Given the description of an element on the screen output the (x, y) to click on. 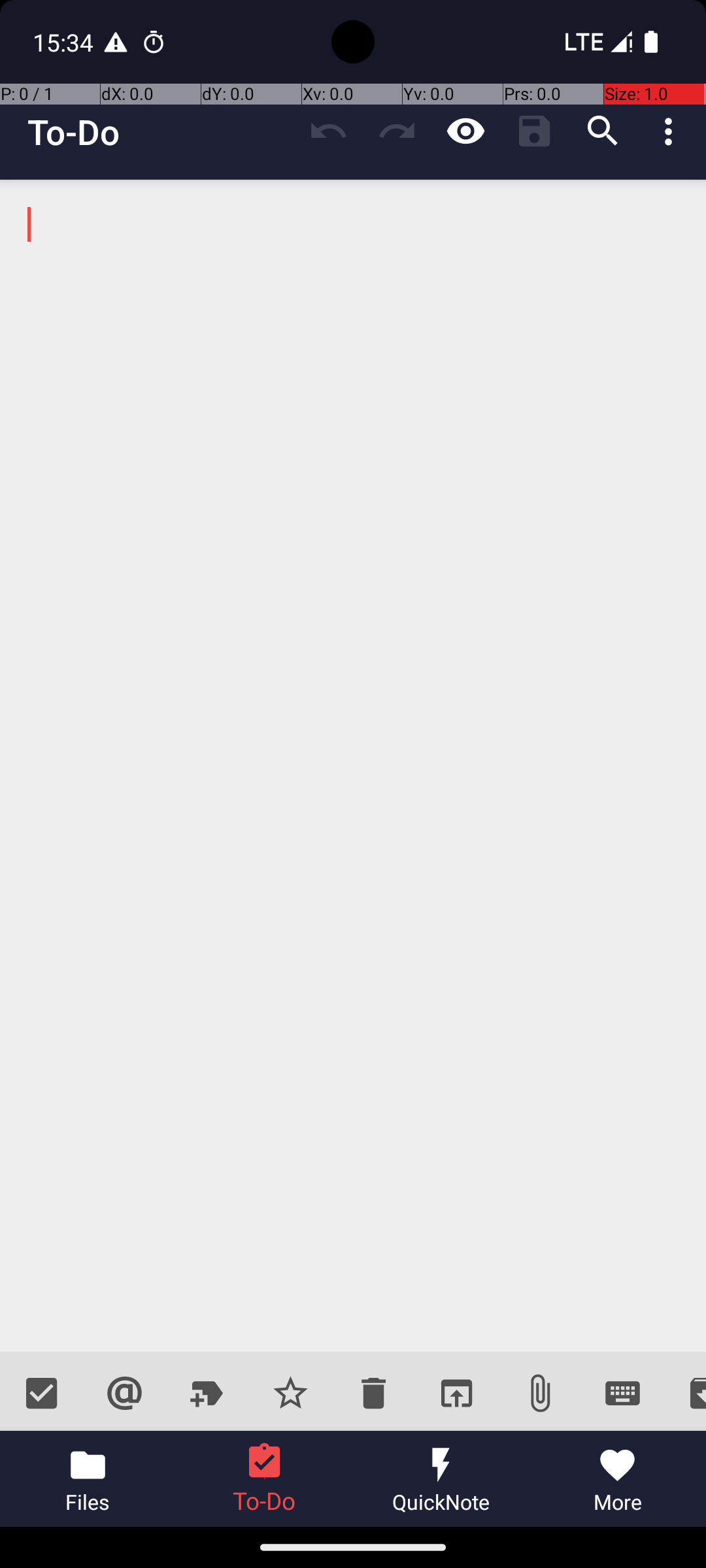
Toggle done Element type: android.widget.ImageView (41, 1392)
Add context Element type: android.widget.ImageView (124, 1392)
Add project Element type: android.widget.ImageView (207, 1392)
Archive completed tasks Element type: android.widget.ImageView (685, 1392)
